Given the description of an element on the screen output the (x, y) to click on. 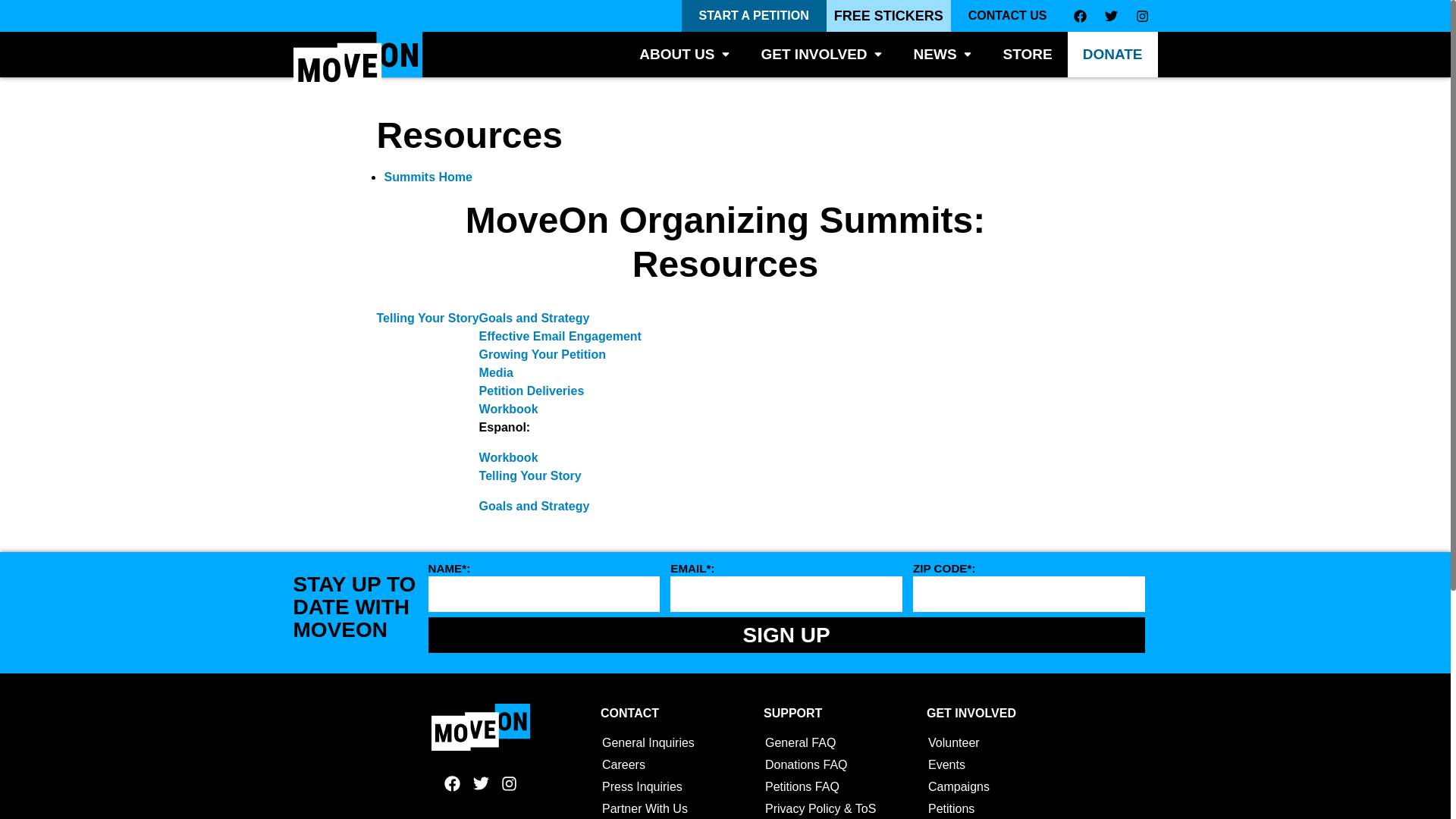
DONATE (1112, 53)
Media (496, 372)
Summits Home (427, 176)
Growing Your Petition (542, 354)
FREE STICKERS (888, 15)
Goals and Strategy (534, 318)
Telling Your Story (427, 318)
START A PETITION (754, 15)
Goals and Strategy (534, 505)
Petition Deliveries (532, 390)
Workbook (508, 408)
Workbook (508, 457)
STORE (1027, 53)
Telling Your Story (529, 475)
CONTACT US (1007, 15)
